Given the description of an element on the screen output the (x, y) to click on. 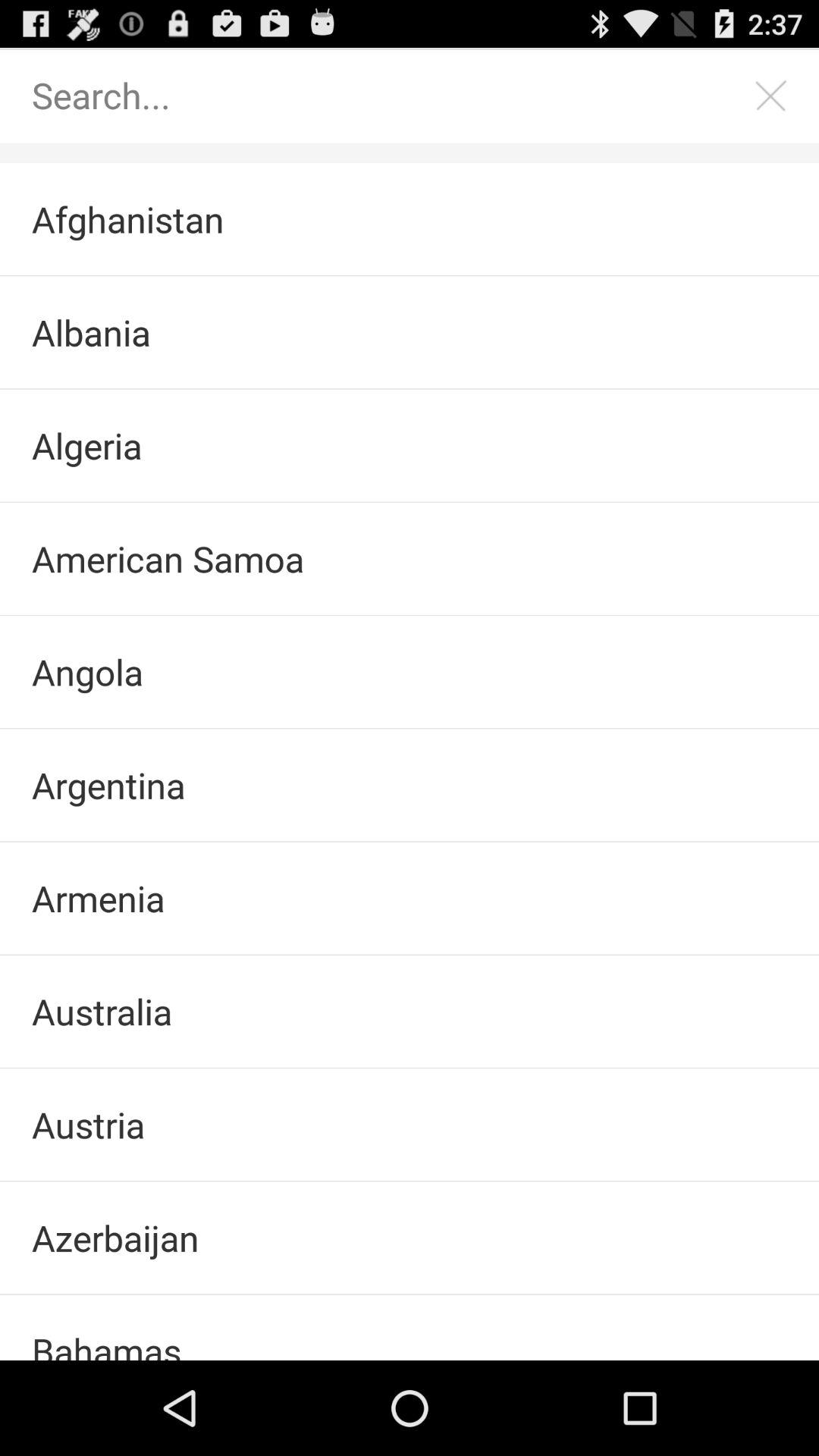
open angola item (409, 671)
